Given the description of an element on the screen output the (x, y) to click on. 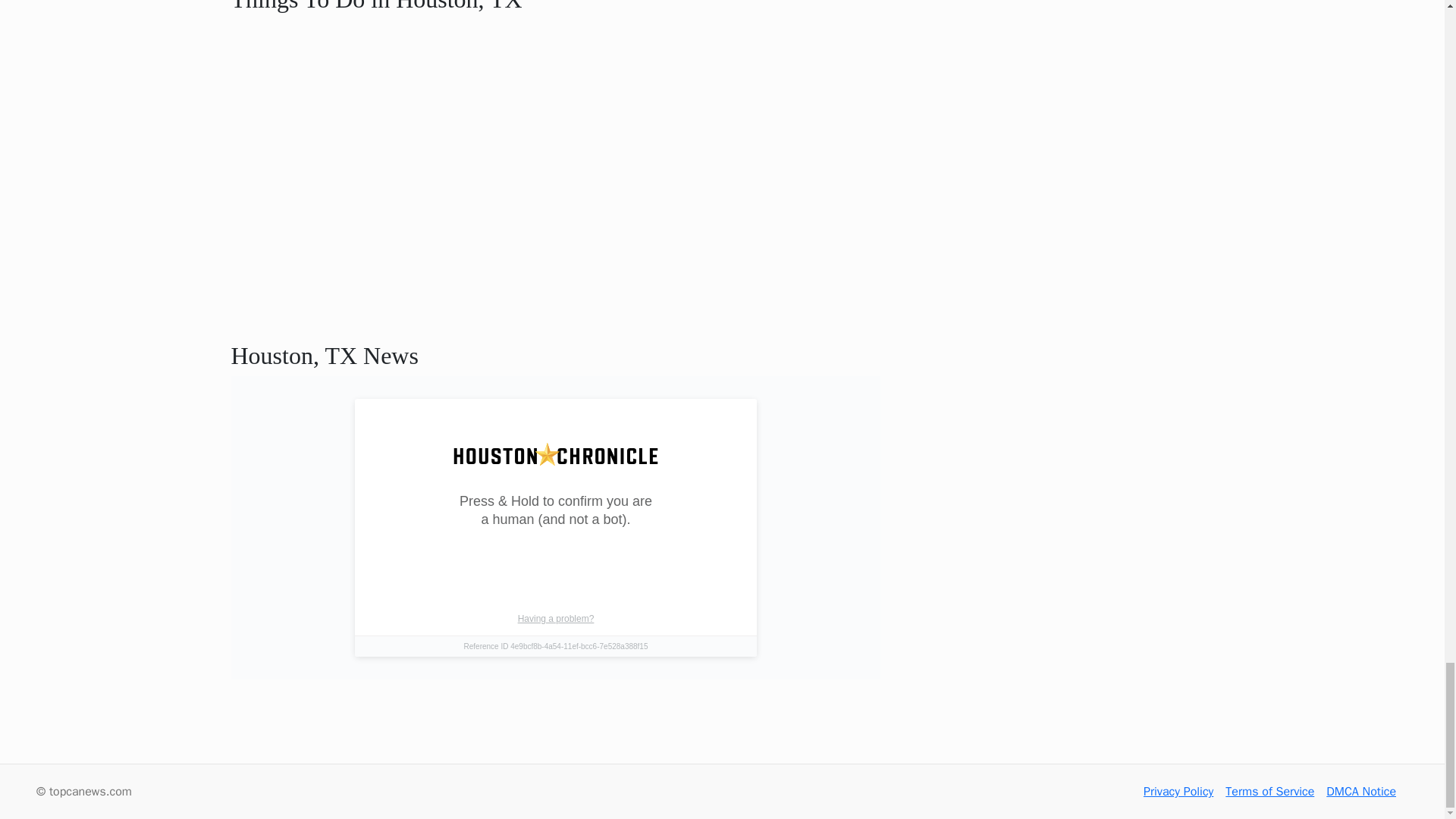
Terms of Service (1269, 791)
DMCA Notice (1361, 791)
Privacy Policy (1177, 791)
